Given the description of an element on the screen output the (x, y) to click on. 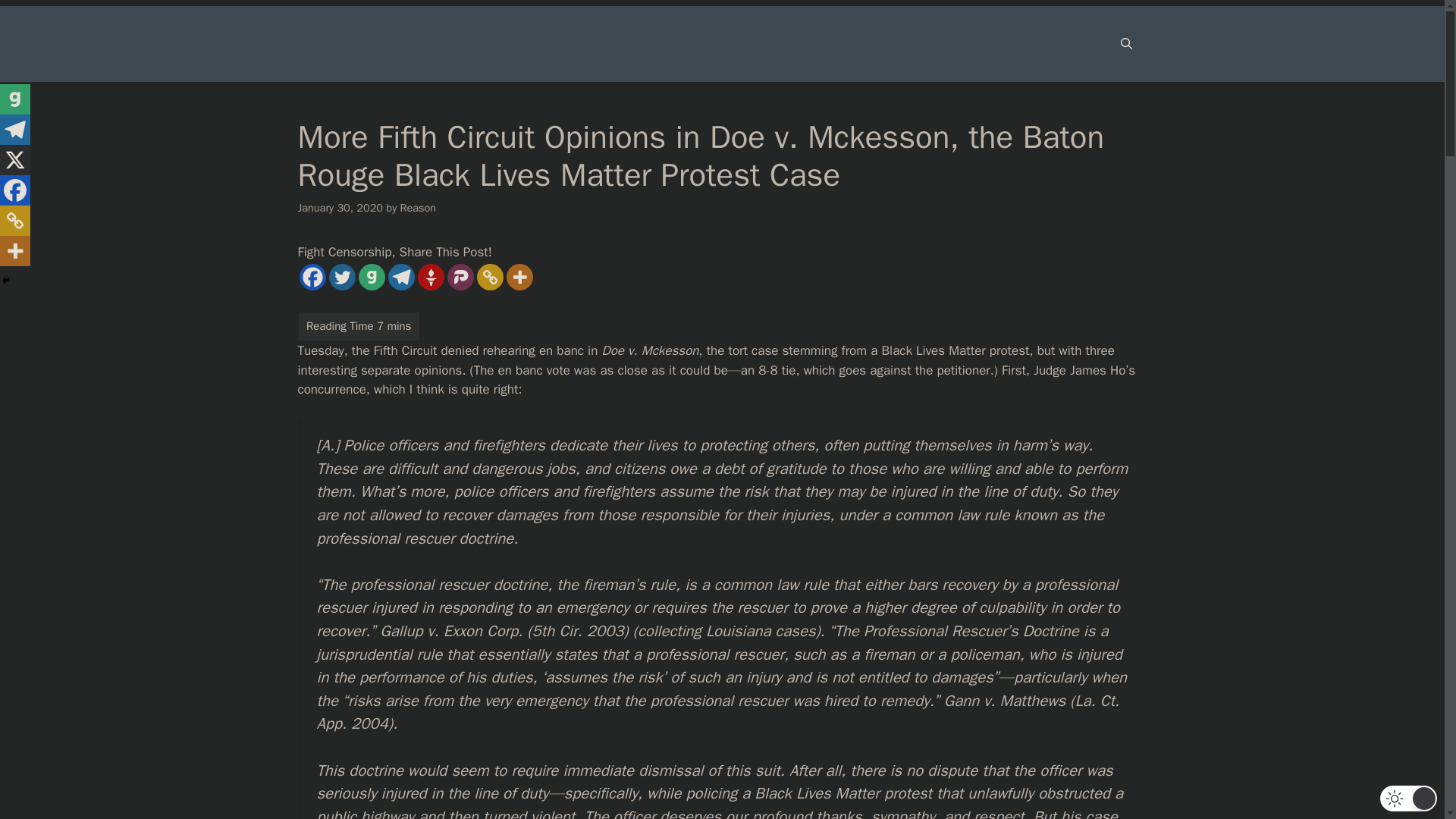
Twitter (342, 276)
Gab (371, 276)
View all posts by Reason (418, 207)
Gettr (430, 276)
Parler (460, 276)
denied rehearing en banc in Doe v. Mckesson (569, 350)
Reason (418, 207)
Telegram (401, 276)
Copy Link (489, 276)
Facebook (311, 276)
More (519, 276)
